Given the description of an element on the screen output the (x, y) to click on. 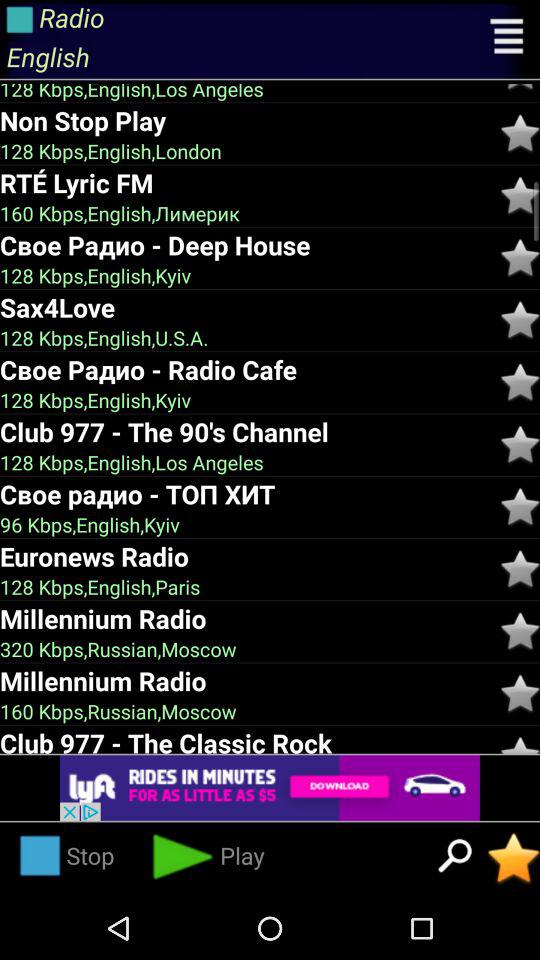
star like (520, 195)
